Given the description of an element on the screen output the (x, y) to click on. 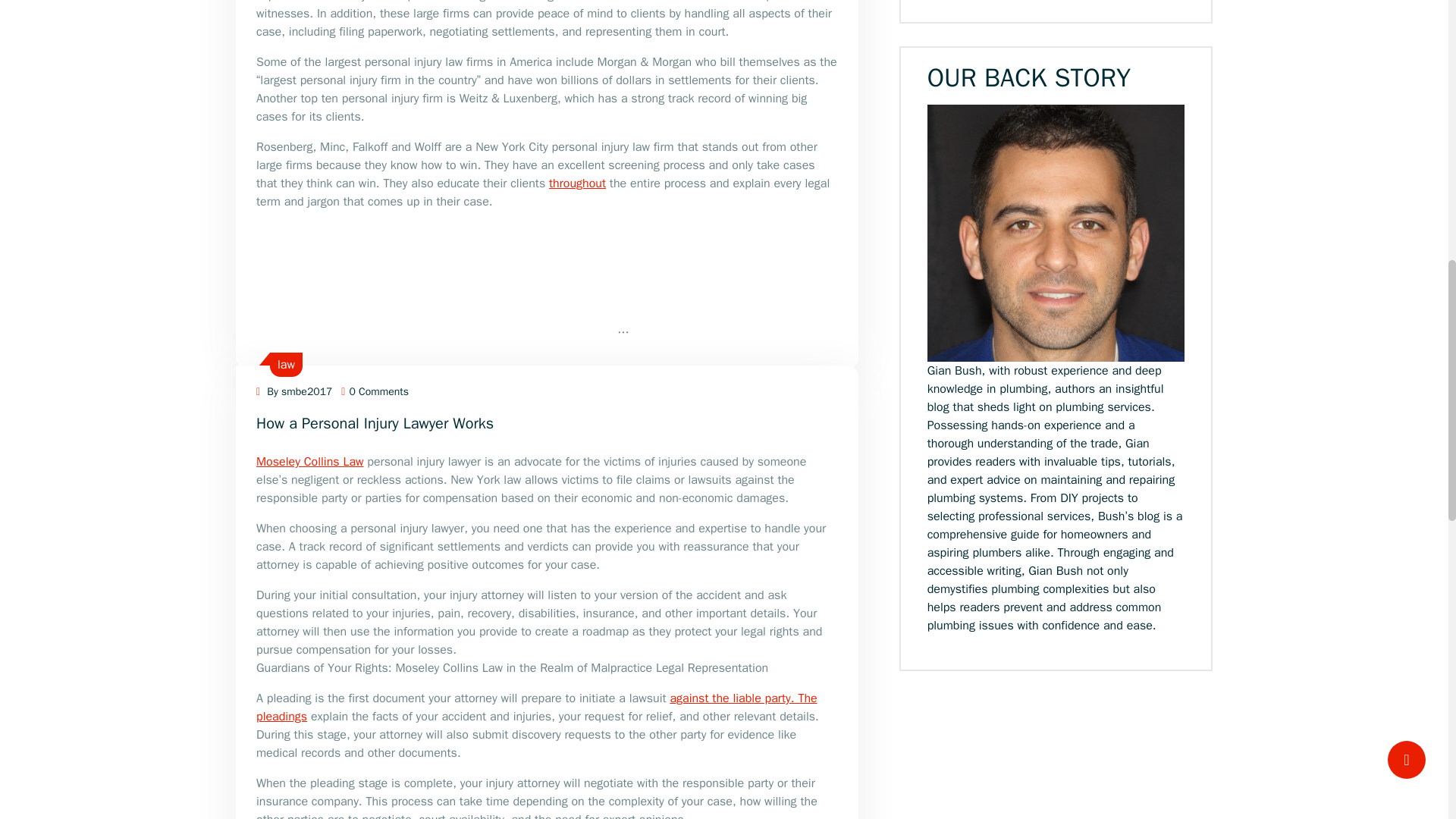
By smbe2017 (293, 391)
Moseley Collins Law (310, 461)
law (286, 364)
against the liable party. The pleadings (536, 707)
0 Comments (374, 391)
How a Personal Injury Lawyer Works (374, 423)
throughout (576, 183)
